Given the description of an element on the screen output the (x, y) to click on. 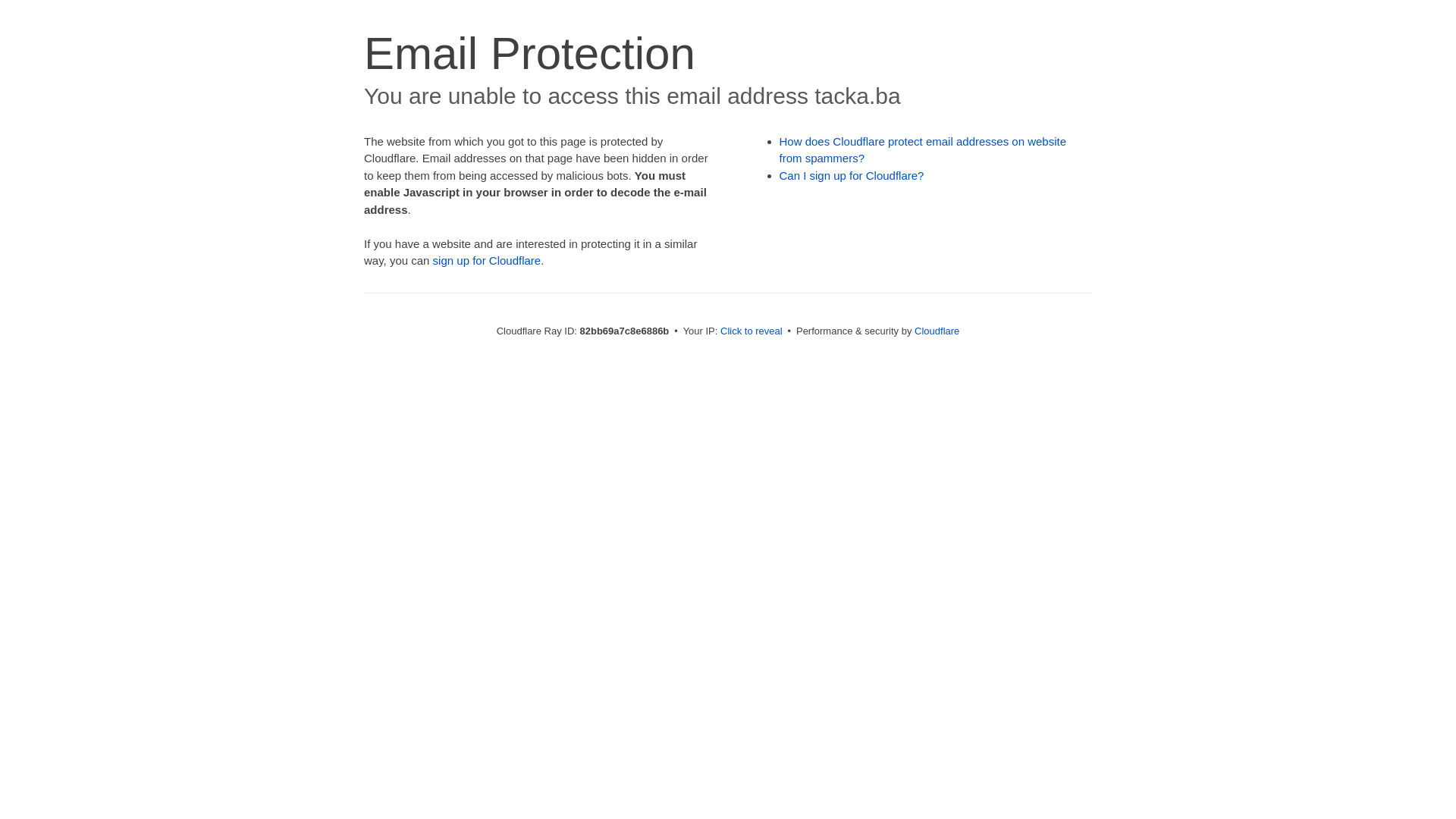
Click to reveal Element type: text (751, 330)
sign up for Cloudflare Element type: text (487, 260)
Cloudflare Element type: text (936, 330)
Can I sign up for Cloudflare? Element type: text (851, 175)
